Given the description of an element on the screen output the (x, y) to click on. 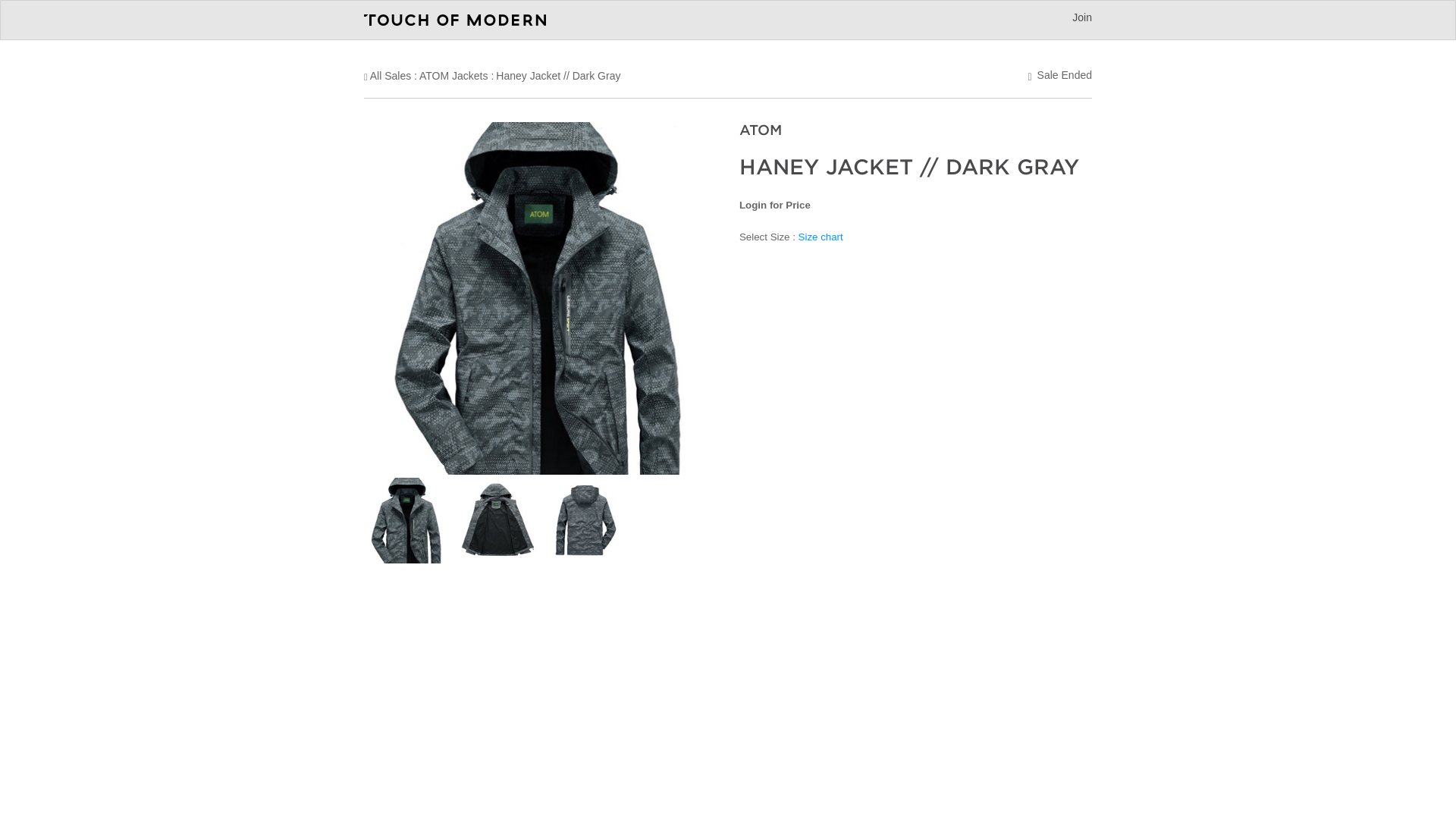
All Sales (389, 75)
Join (1081, 17)
All Sales (389, 75)
ATOM Jackets (453, 75)
Size chart (820, 235)
ATOM Jackets (453, 75)
